Given the description of an element on the screen output the (x, y) to click on. 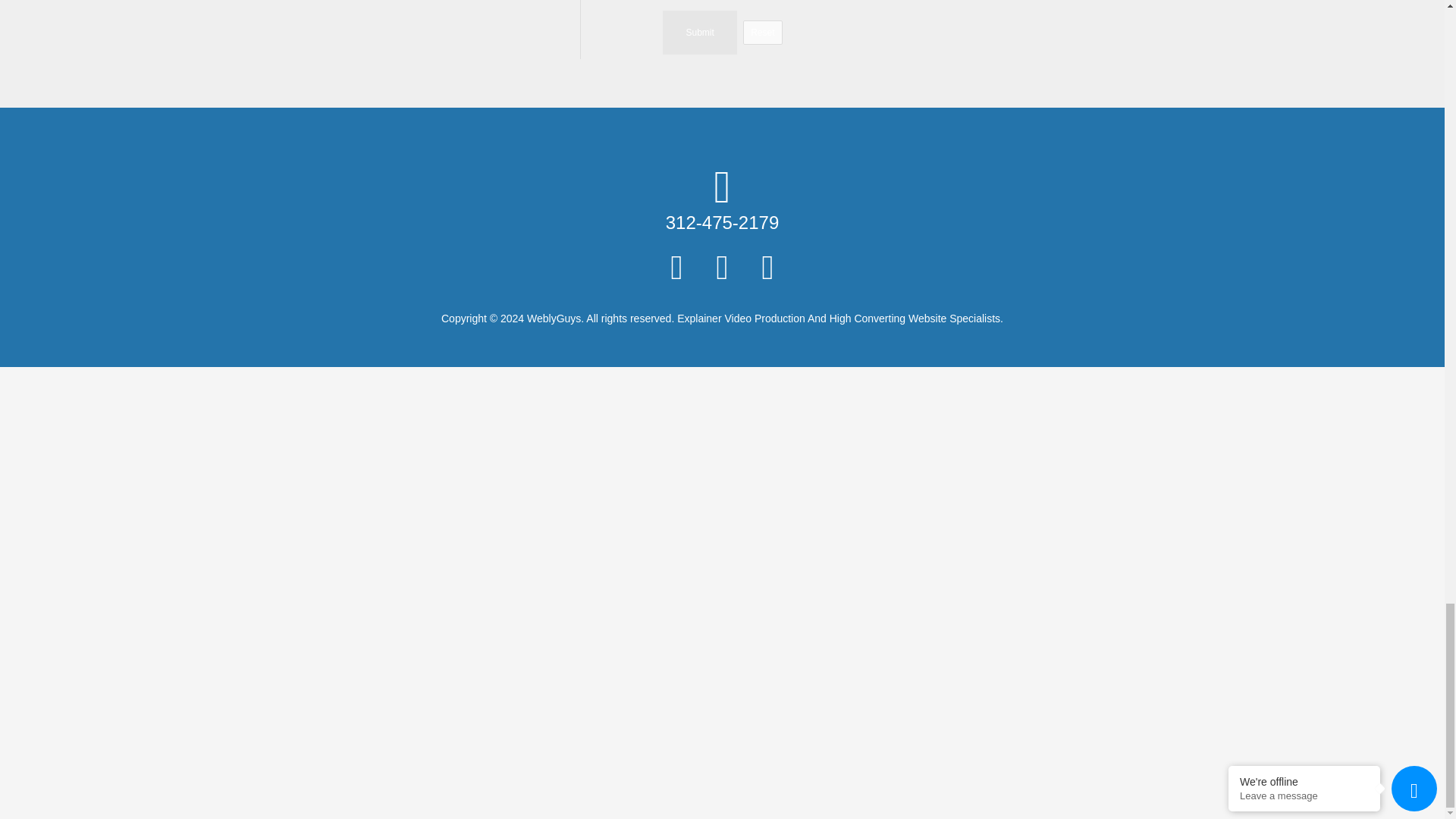
Submit (699, 32)
Reset (761, 32)
Submit (699, 32)
